Given the description of an element on the screen output the (x, y) to click on. 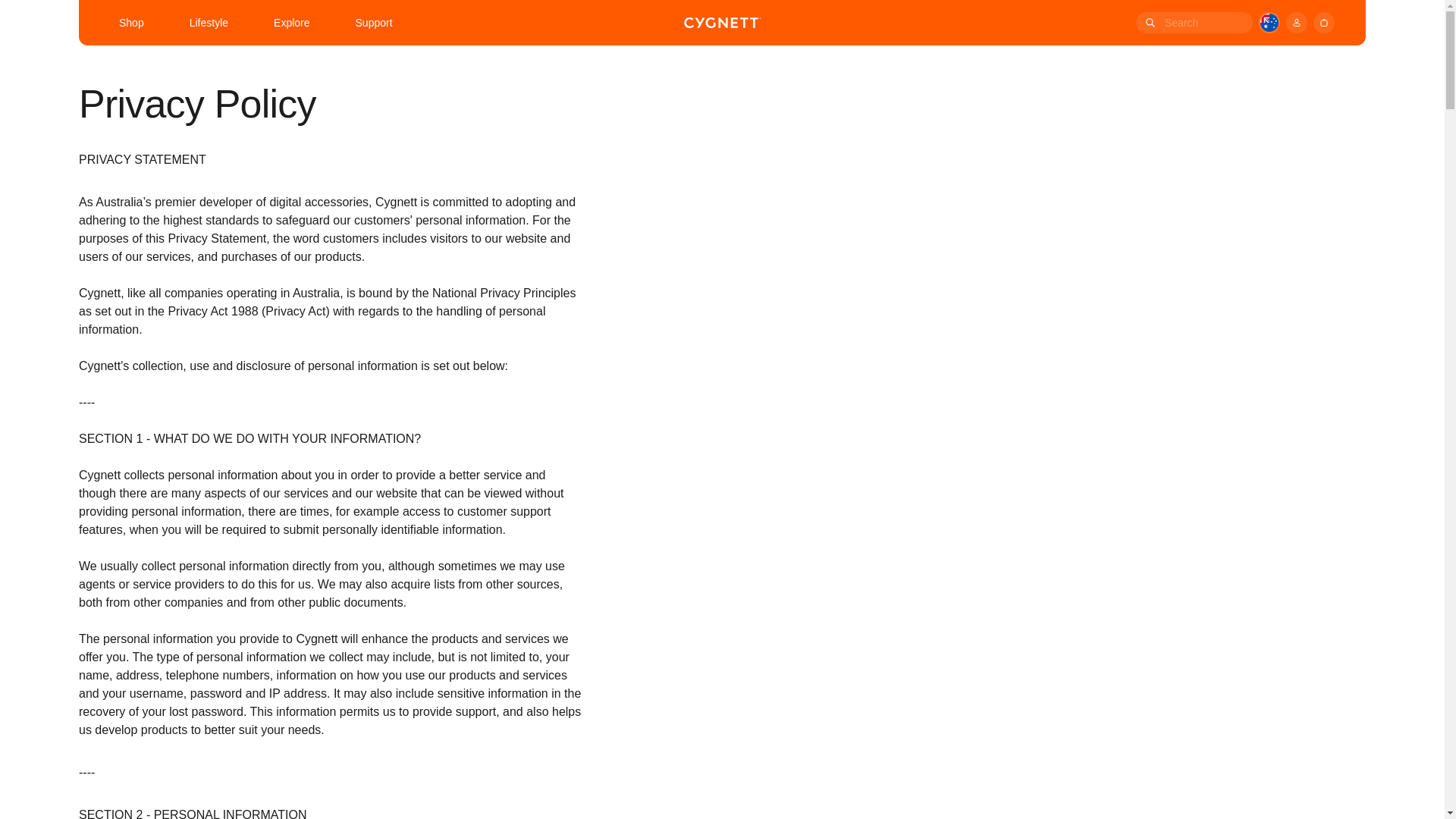
Cygnett (722, 21)
Search (1148, 22)
Log In (1296, 22)
Your Cart (1324, 22)
Explore (291, 22)
Lifestyle (208, 22)
Support (374, 22)
